Given the description of an element on the screen output the (x, y) to click on. 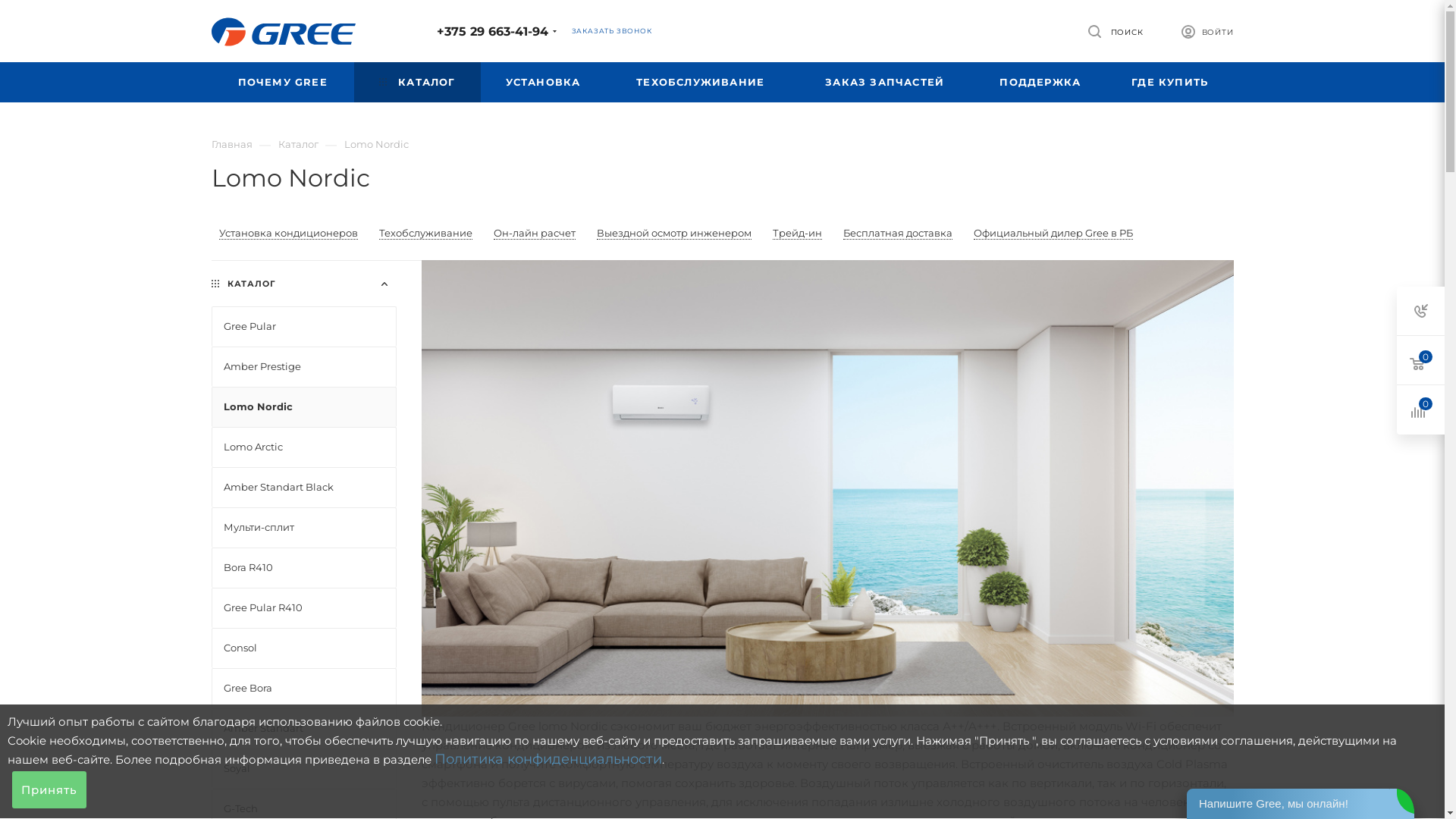
Y Element type: text (4, 4)
Lomo Arctic Element type: text (302, 446)
+375 29 663-41-94 Element type: text (492, 31)
Amber Standart Element type: text (302, 728)
Amber Prestige Element type: text (302, 366)
Amber Standart Black Element type: text (302, 487)
Gree Bora Element type: text (302, 688)
Lomo Nordic Element type: text (302, 406)
Consol Element type: text (302, 647)
Bora R410 Element type: text (302, 567)
Gree Pular Element type: text (302, 326)
Gree Pular R410 Element type: text (302, 607)
Soyal Element type: text (302, 768)
